Given the description of an element on the screen output the (x, y) to click on. 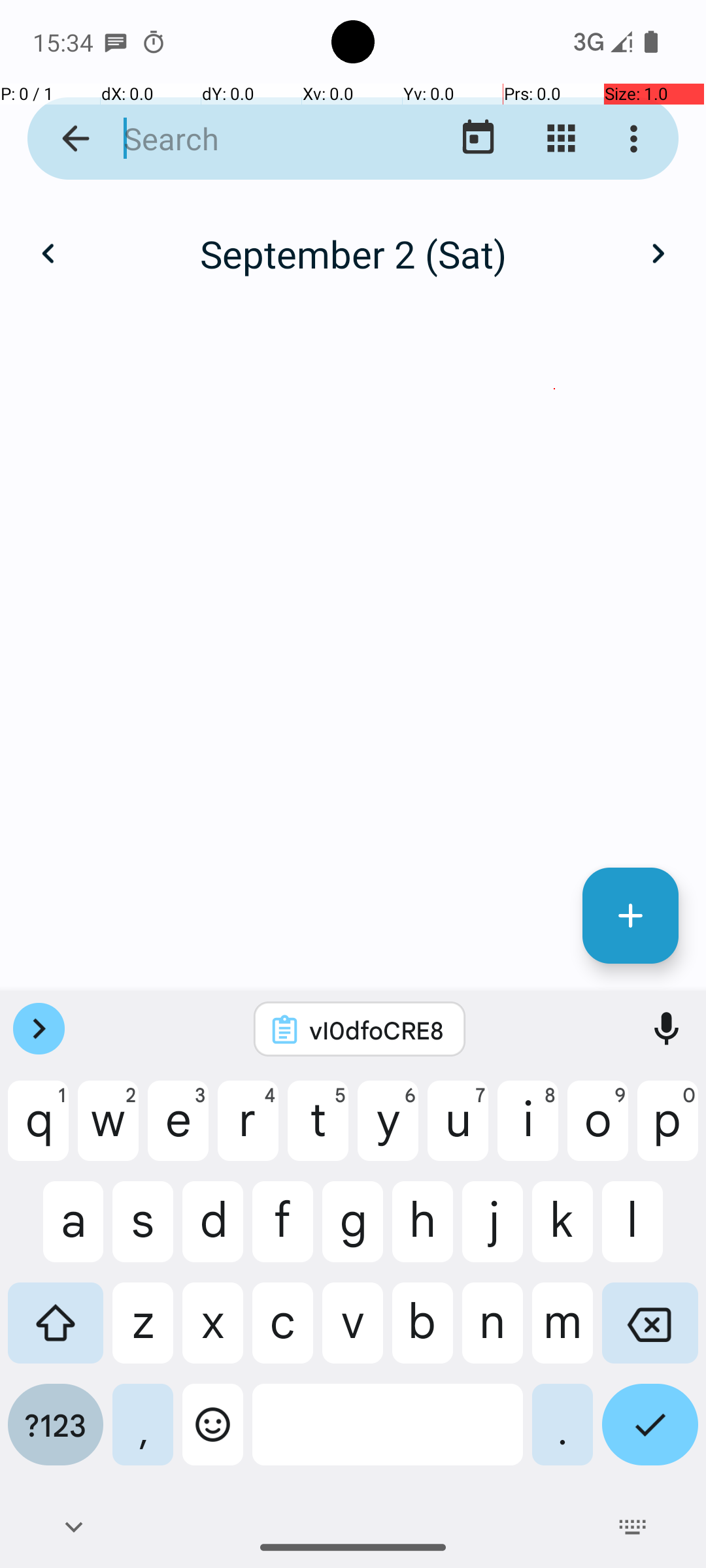
September 2 (Sat) Element type: android.widget.TextView (352, 253)
vI0dfoCRE8 Element type: android.widget.TextView (376, 1029)
